Given the description of an element on the screen output the (x, y) to click on. 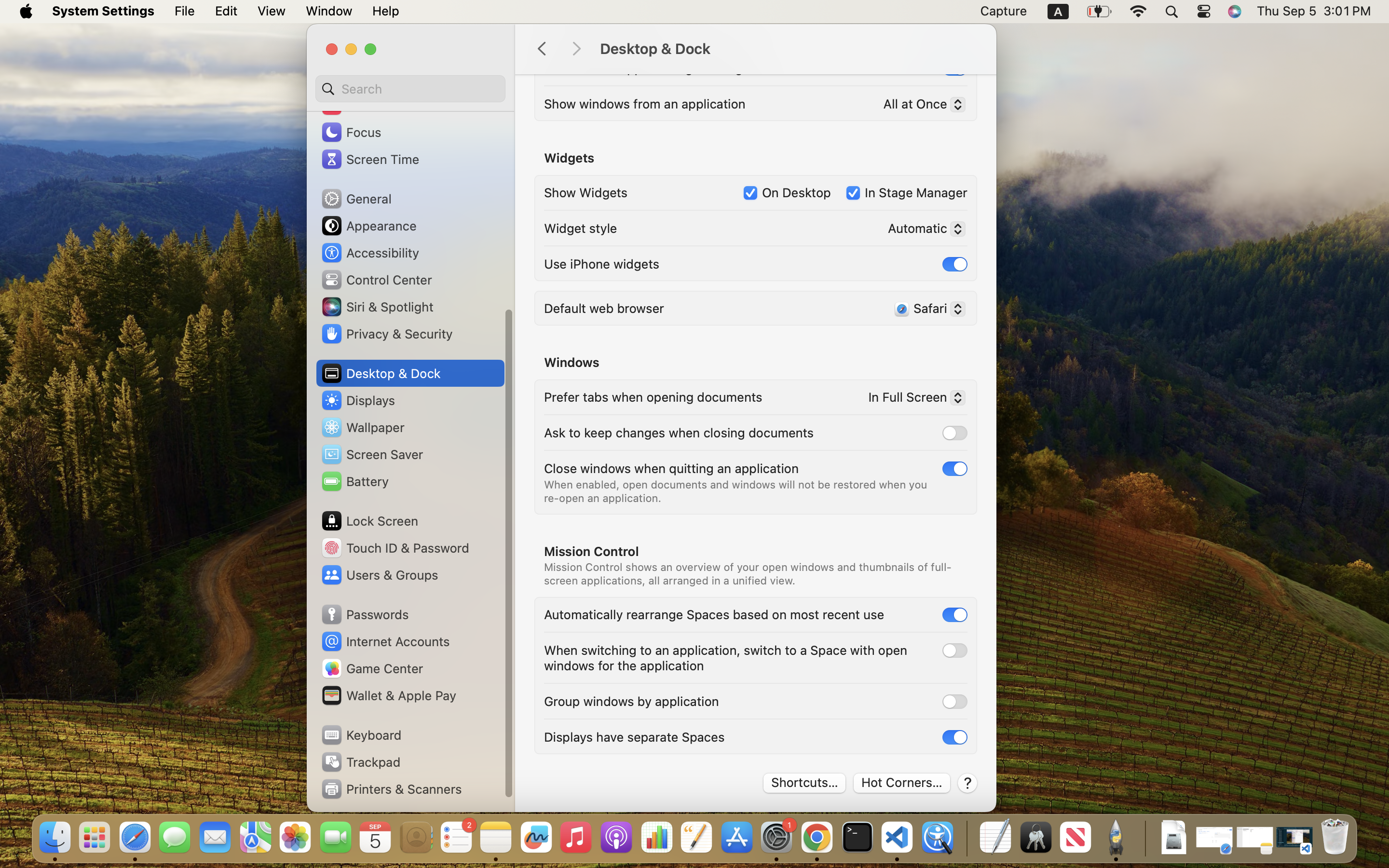
Printers & Scanners Element type: AXStaticText (391, 788)
Use iPhone widgets Element type: AXStaticText (601, 263)
Show recent apps in Stage Manager Element type: AXStaticText (649, 67)
In Full Screen Element type: AXPopUpButton (912, 398)
Privacy & Security Element type: AXStaticText (386, 333)
